Given the description of an element on the screen output the (x, y) to click on. 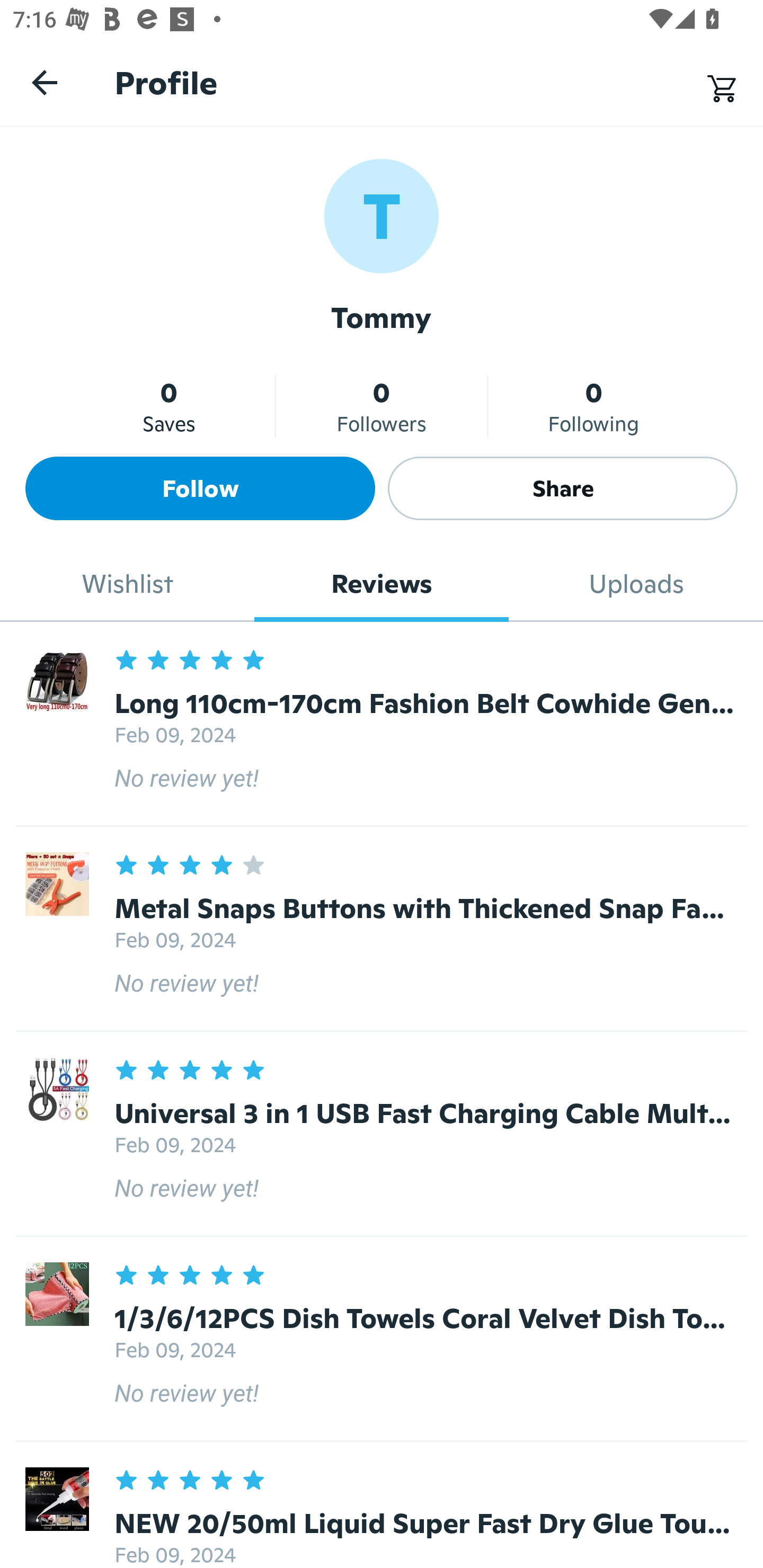
Navigate up (44, 82)
T (381, 215)
0 Followers (381, 405)
0 Following (593, 405)
Follow (200, 488)
Share (562, 488)
Wishlist (127, 583)
Reviews (381, 583)
Uploads (635, 583)
